Given the description of an element on the screen output the (x, y) to click on. 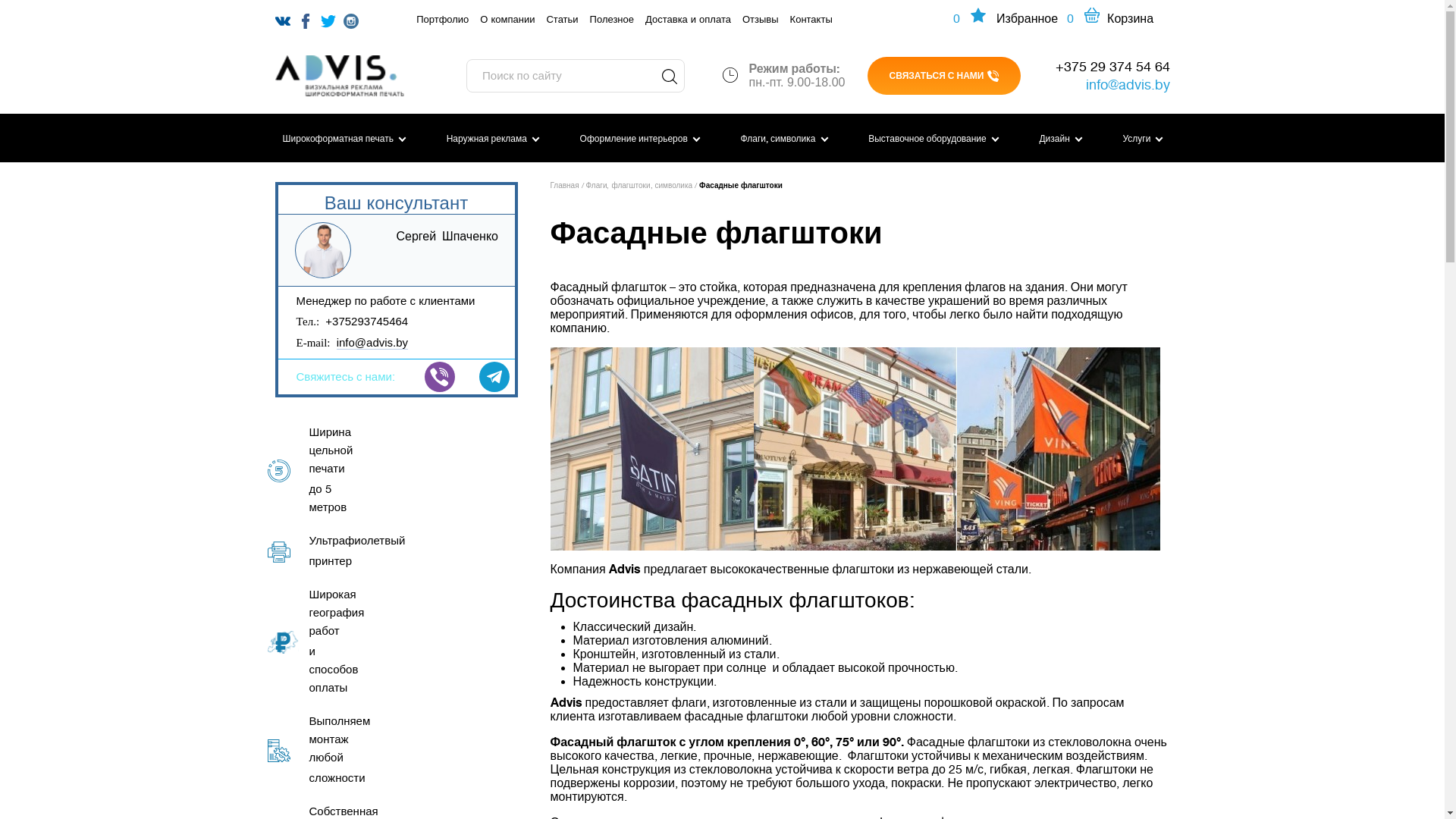
+375 29 374 54 64 Element type: text (1104, 66)
info@advis.by Element type: text (371, 342)
info@advis.by Element type: text (1104, 84)
